Given the description of an element on the screen output the (x, y) to click on. 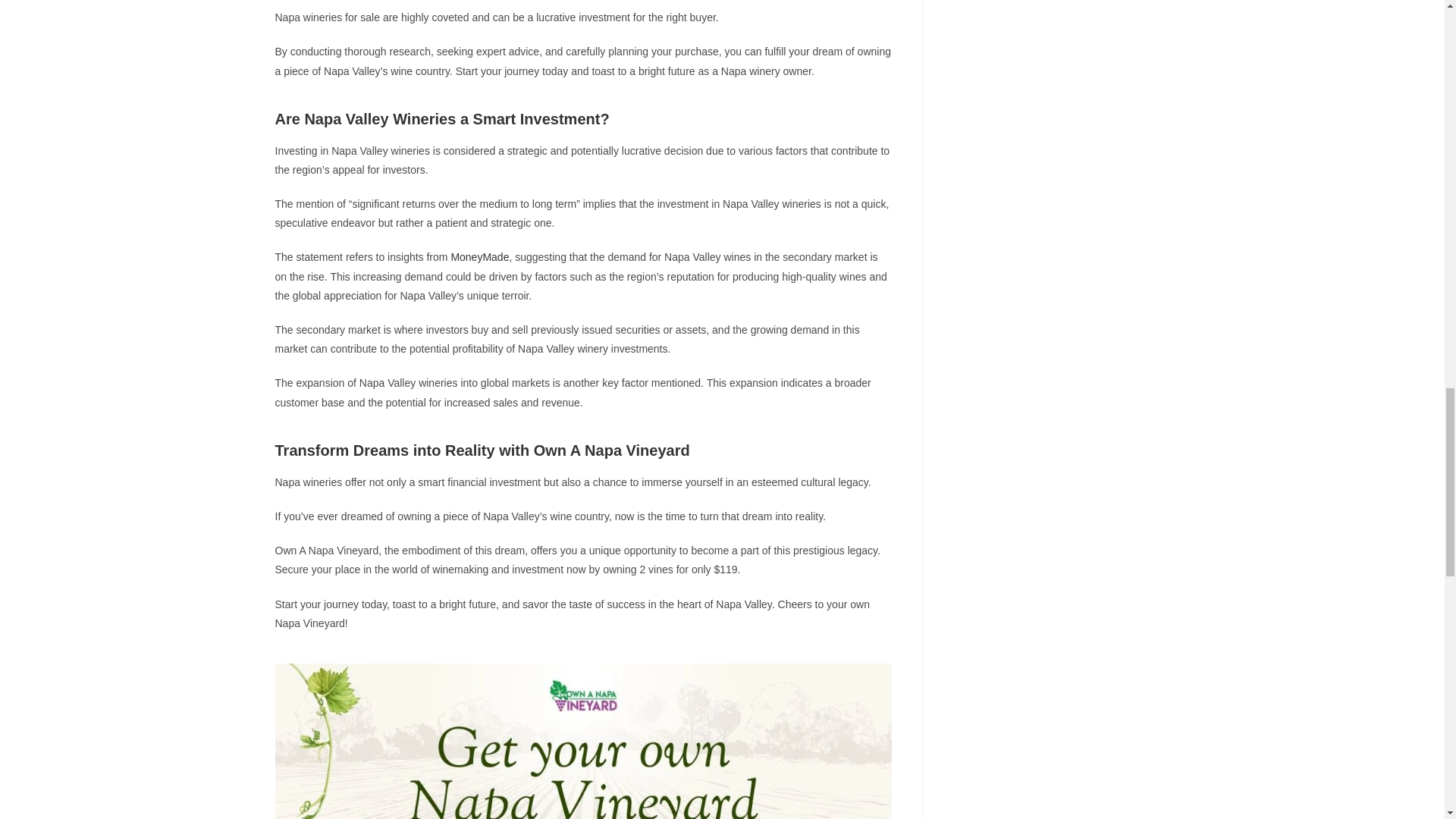
MoneyMade (478, 256)
